Given the description of an element on the screen output the (x, y) to click on. 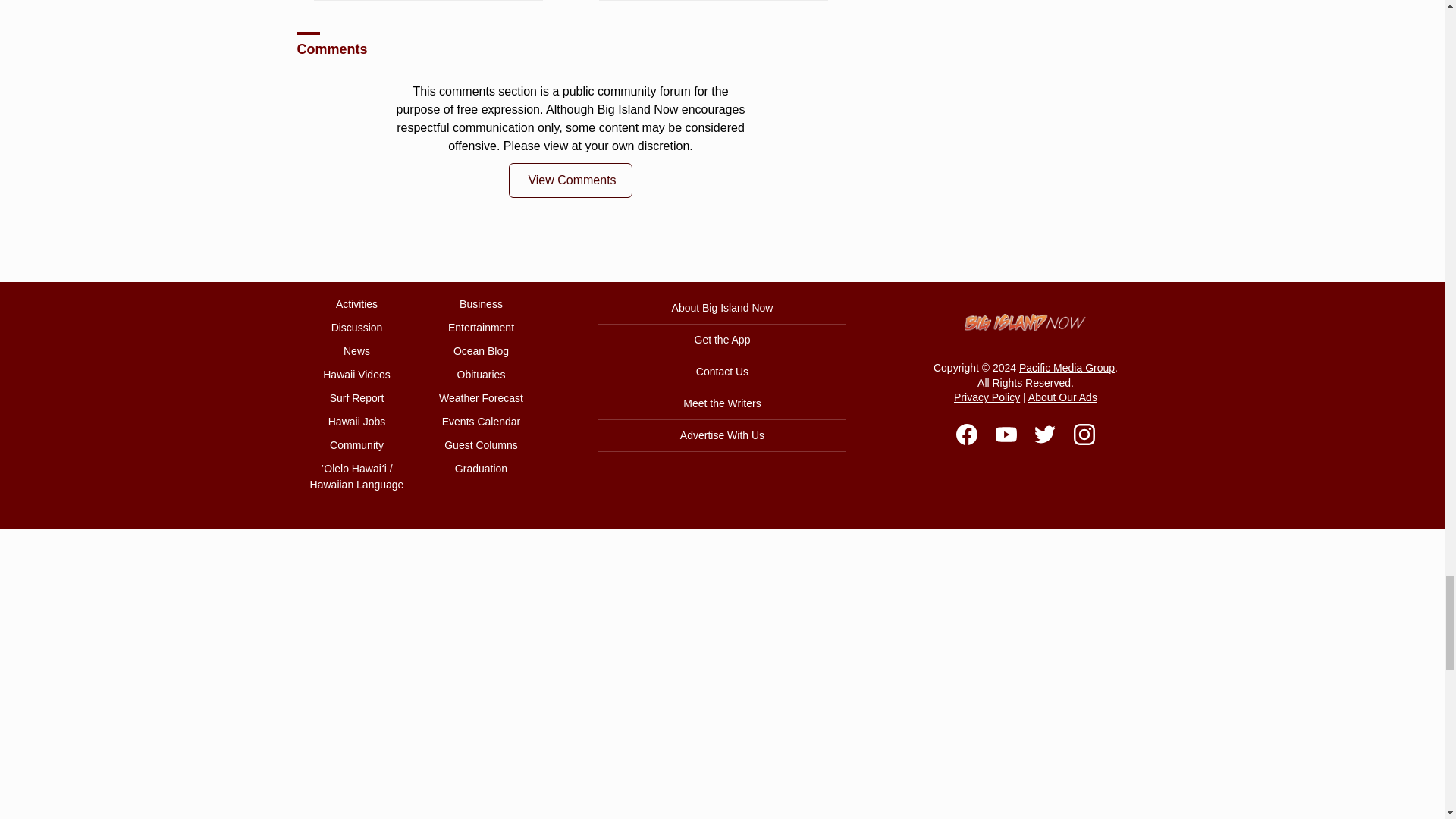
Instagram (1084, 434)
Twitter (1044, 434)
YouTube (1005, 434)
Facebook (966, 434)
